Given the description of an element on the screen output the (x, y) to click on. 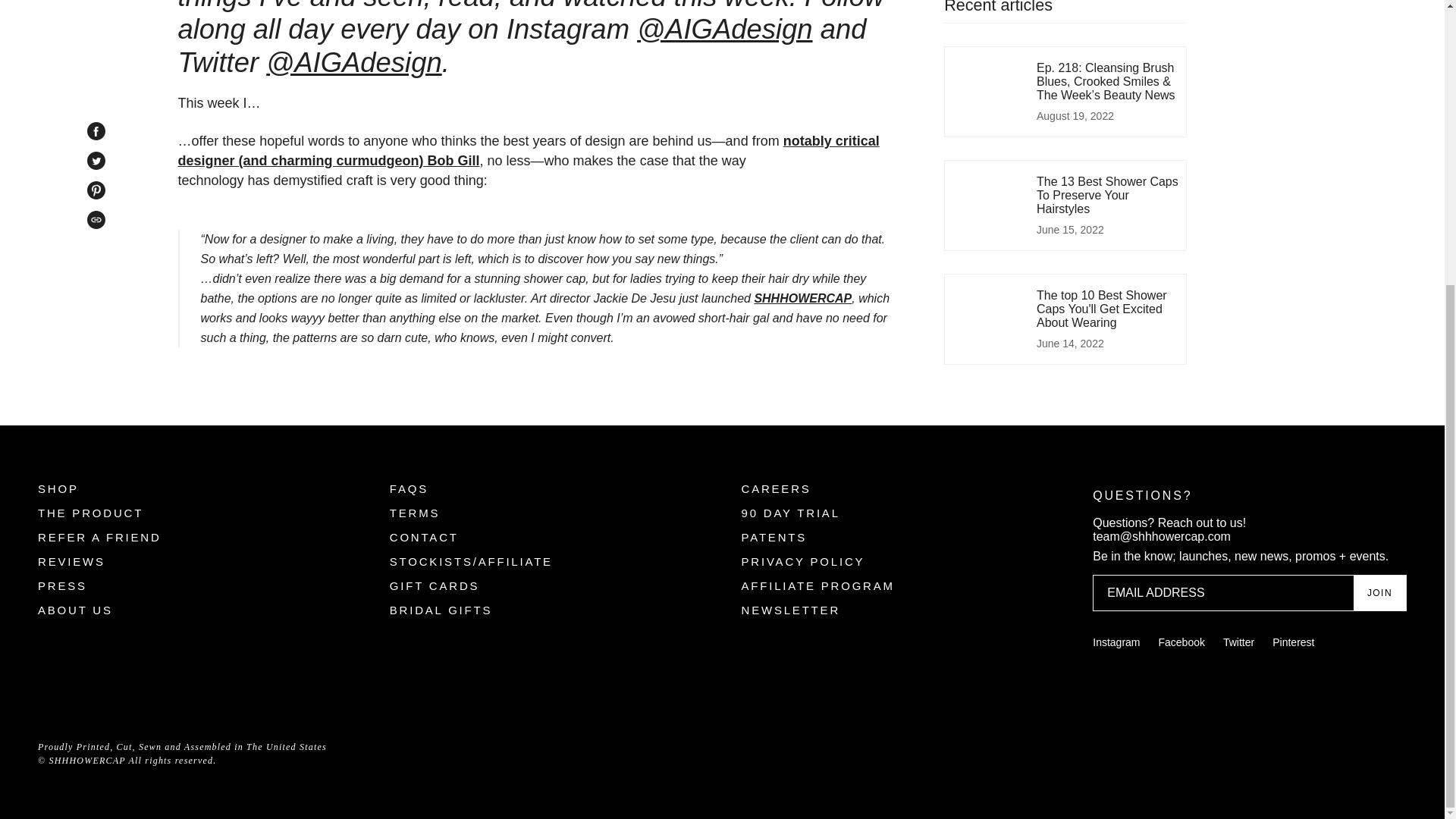
SHHHOWERCAP (802, 297)
SHOP (57, 488)
